Given the description of an element on the screen output the (x, y) to click on. 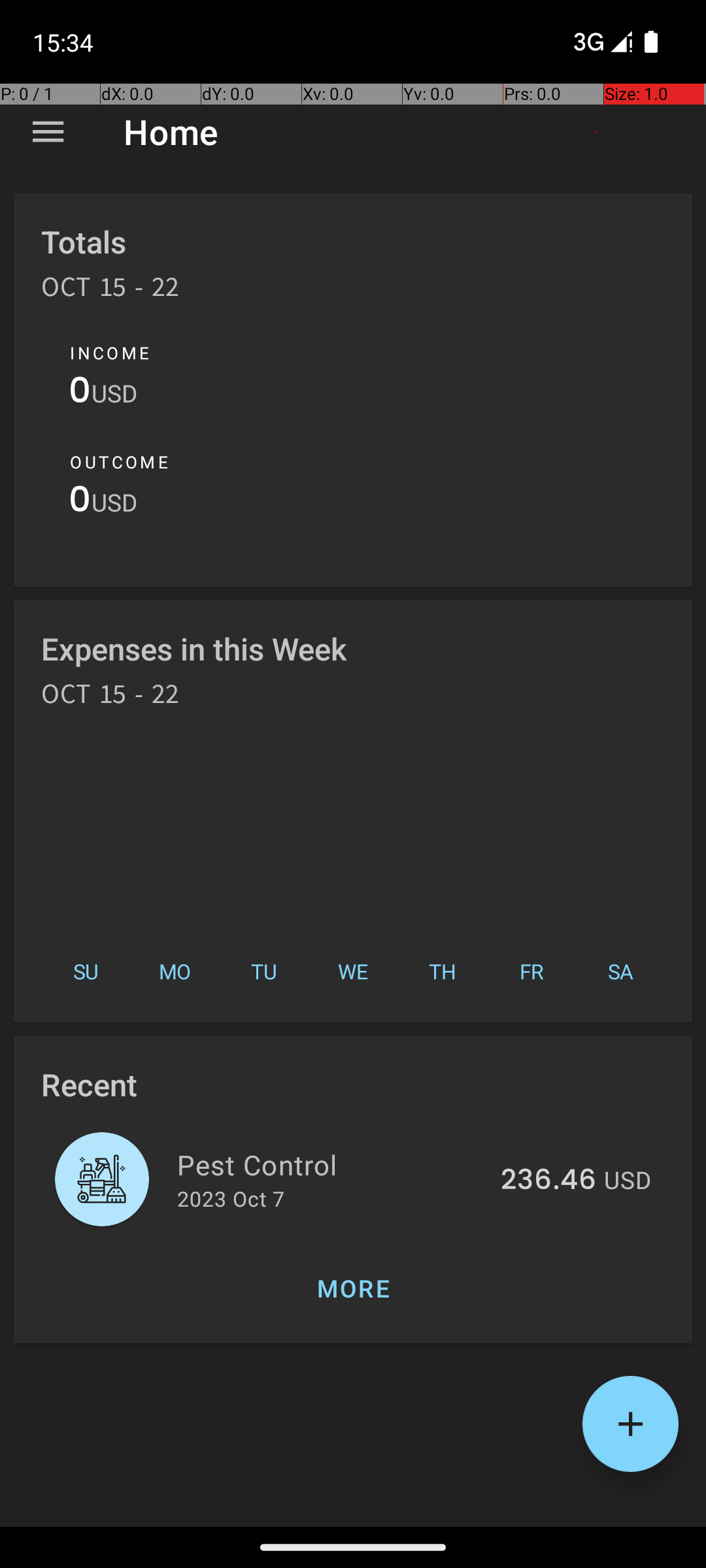
MORE Element type: android.widget.Button (352, 1288)
Pest Control Element type: android.widget.TextView (331, 1164)
2023 Oct 7 Element type: android.widget.TextView (230, 1198)
236.46 Element type: android.widget.TextView (548, 1180)
